Given the description of an element on the screen output the (x, y) to click on. 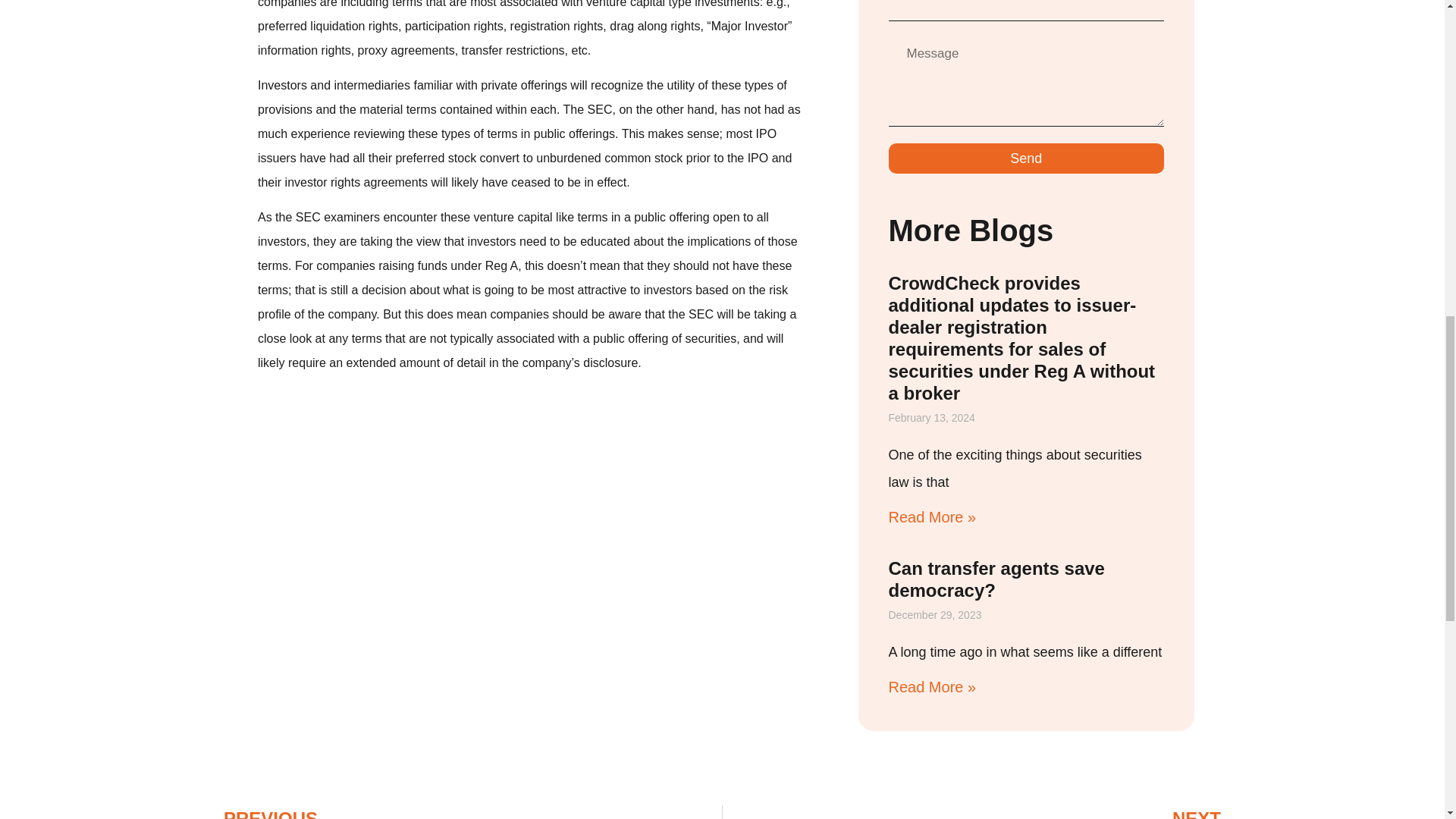
Send (467, 812)
Can transfer agents save democracy? (1026, 158)
